Given the description of an element on the screen output the (x, y) to click on. 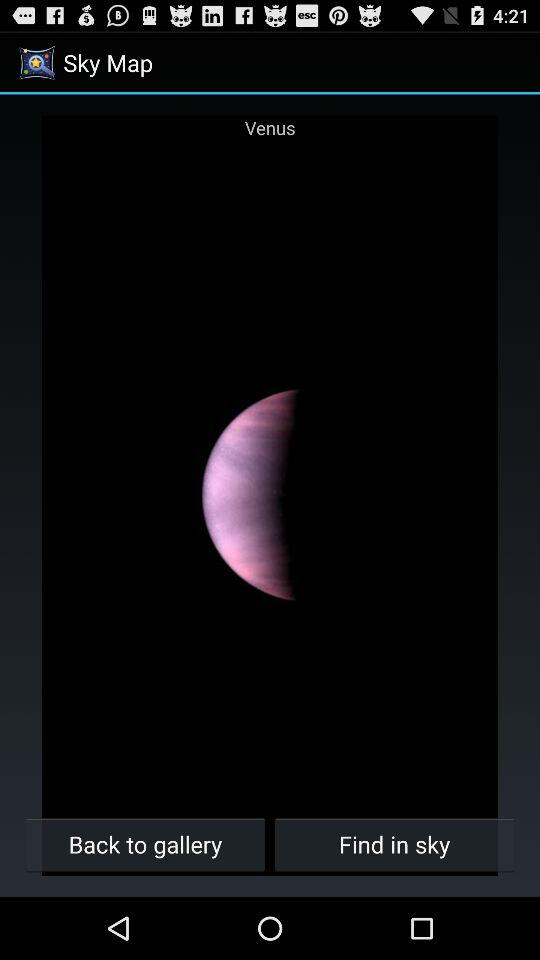
turn on the item next to the back to gallery item (394, 844)
